Given the description of an element on the screen output the (x, y) to click on. 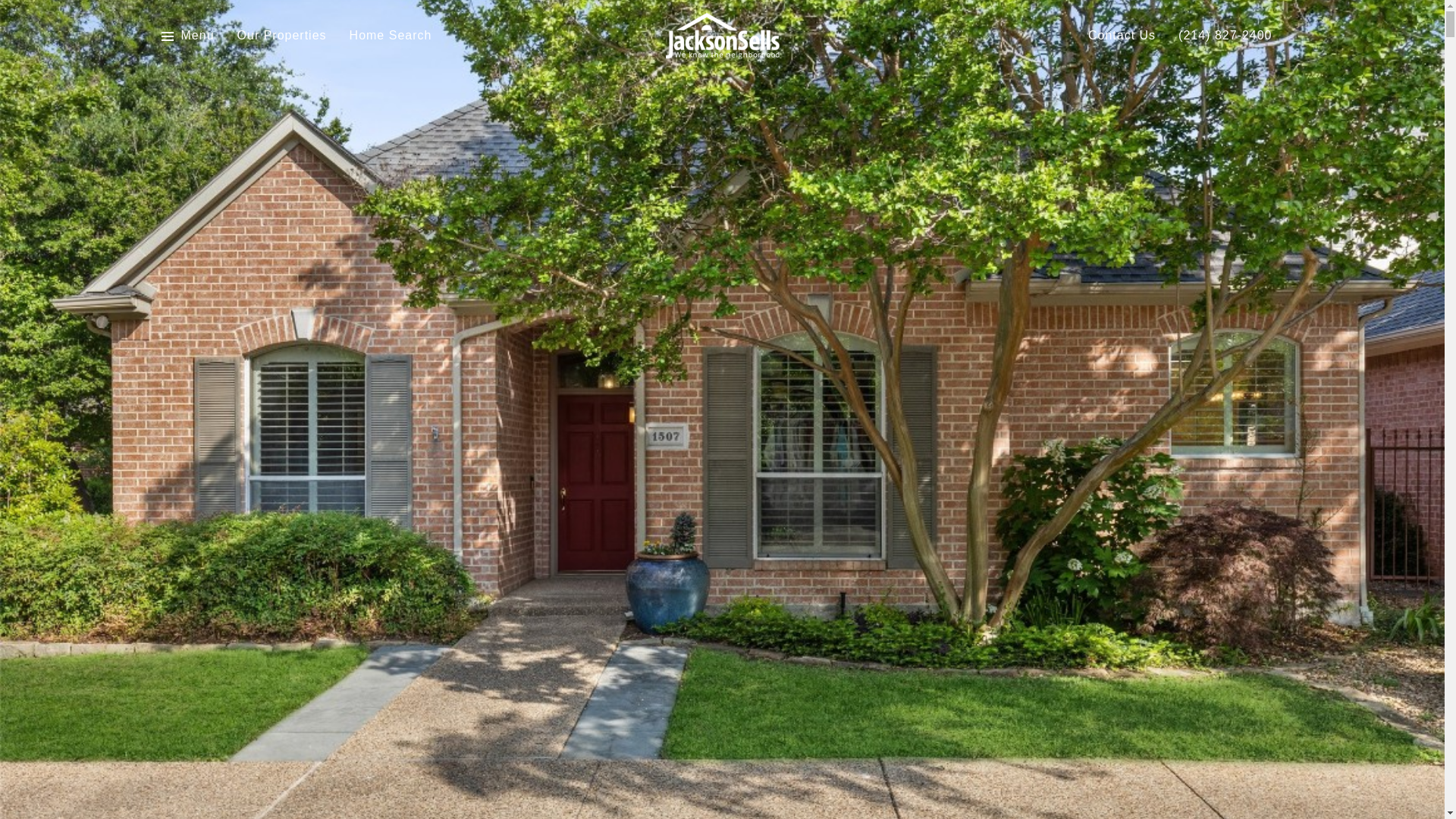
Home Search (390, 35)
Our Properties (281, 35)
Menu (187, 35)
Menu (197, 35)
Contact Us (1121, 35)
